Given the description of an element on the screen output the (x, y) to click on. 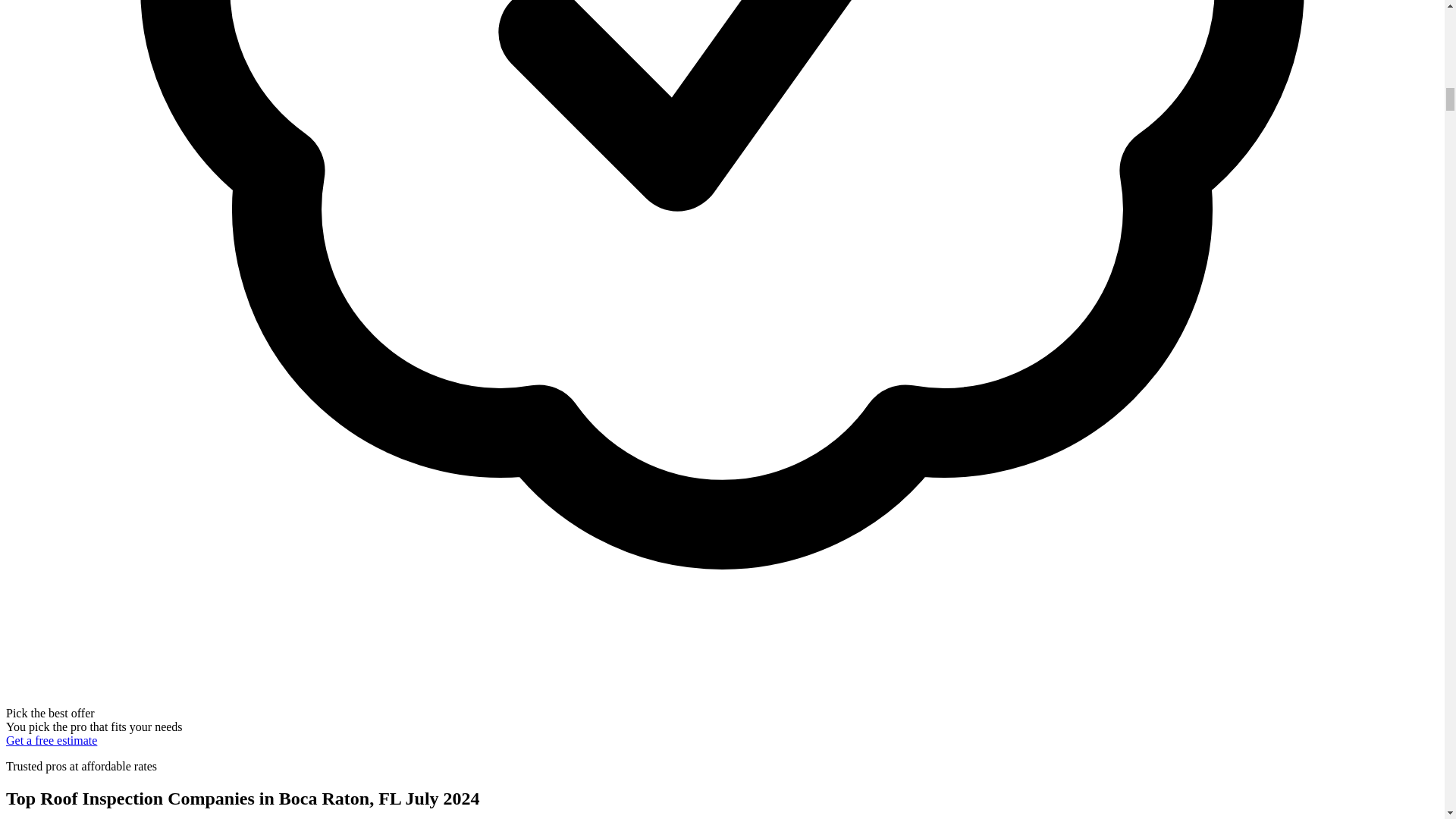
Get a free estimate (51, 739)
